Given the description of an element on the screen output the (x, y) to click on. 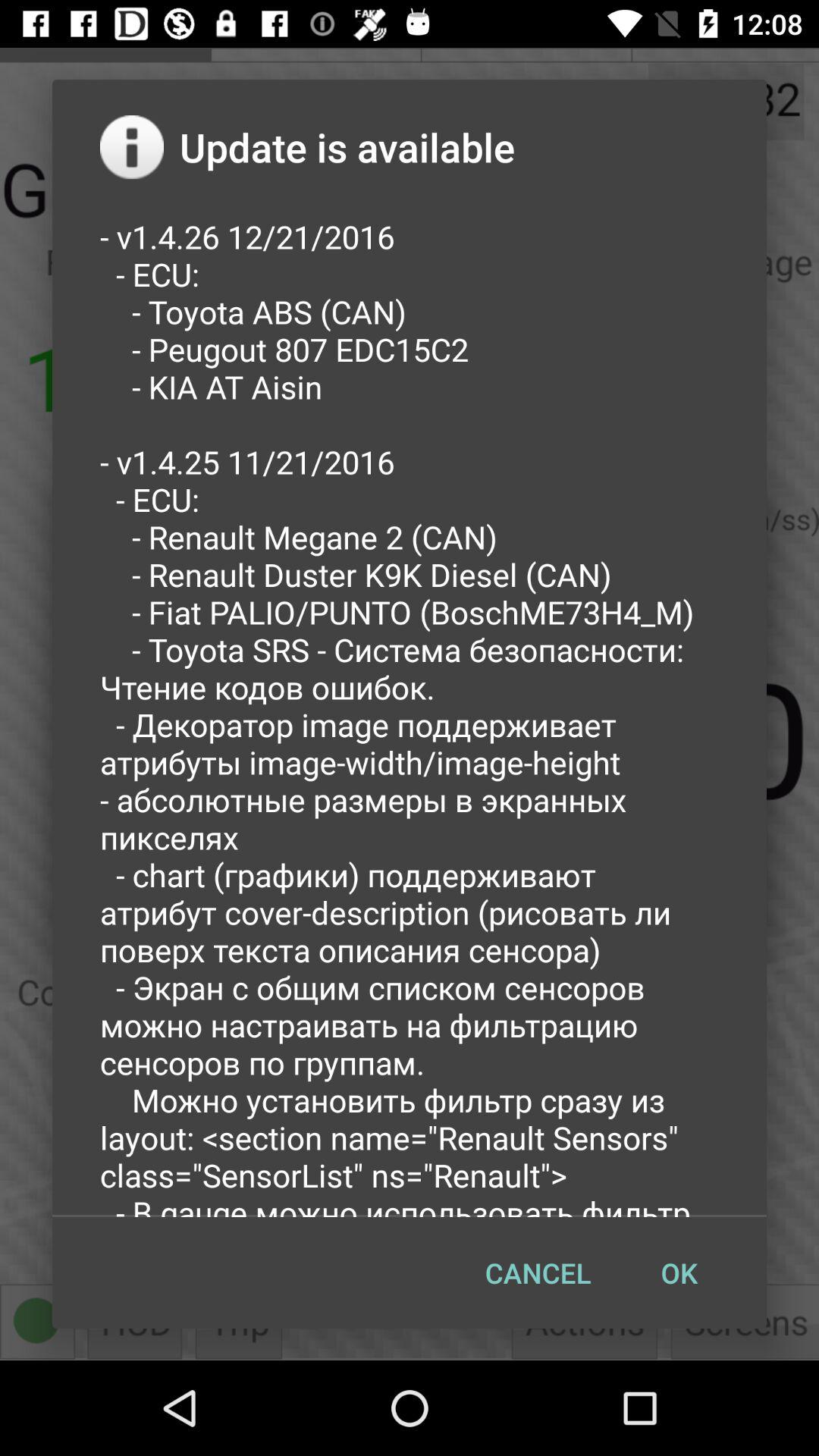
choose icon next to ok (538, 1272)
